Given the description of an element on the screen output the (x, y) to click on. 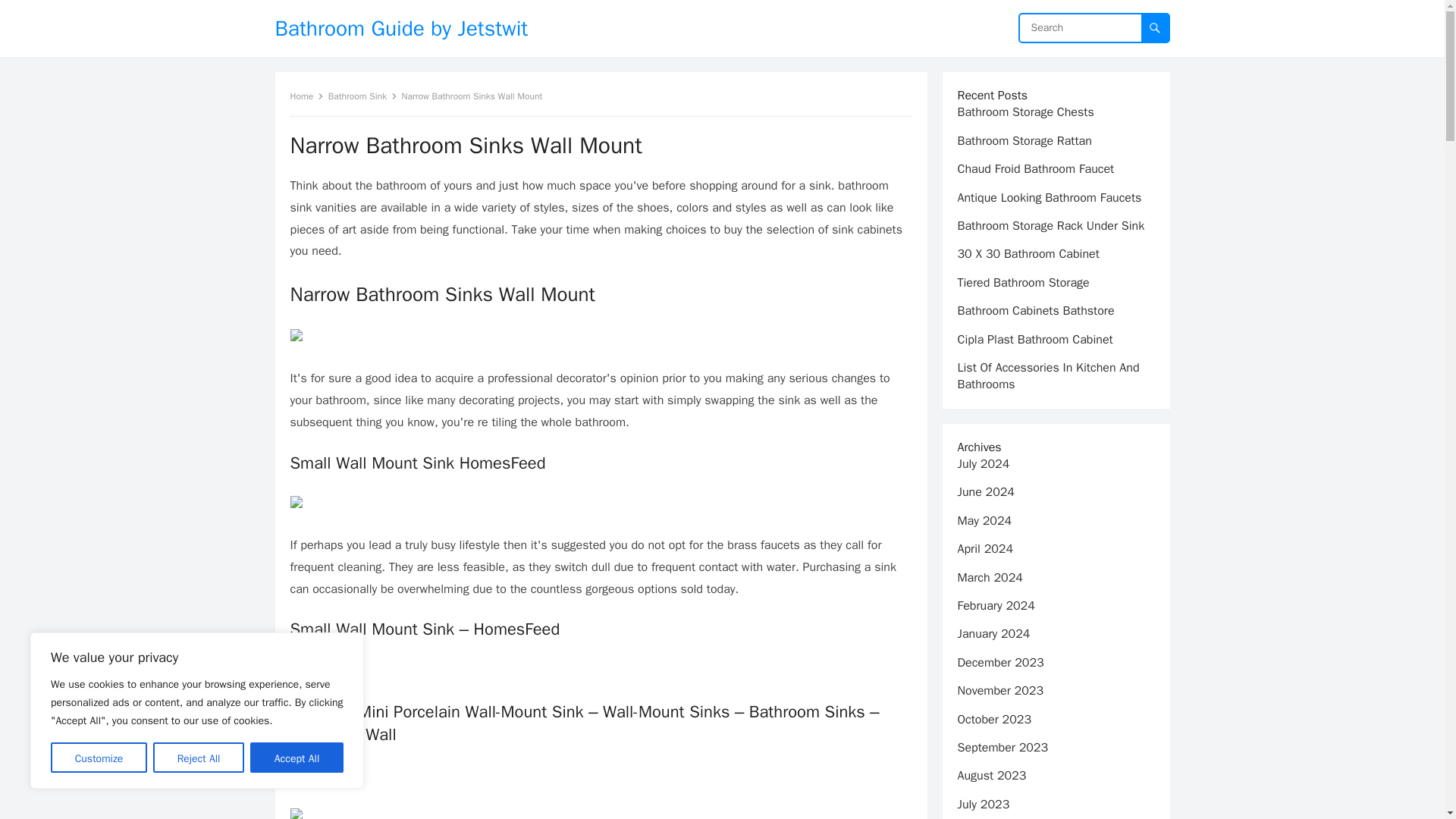
Customize (98, 757)
Accept All (296, 757)
Home (306, 96)
Reject All (198, 757)
Bathroom Guide by Jetstwit (401, 28)
Bathroom Sink (363, 96)
